Given the description of an element on the screen output the (x, y) to click on. 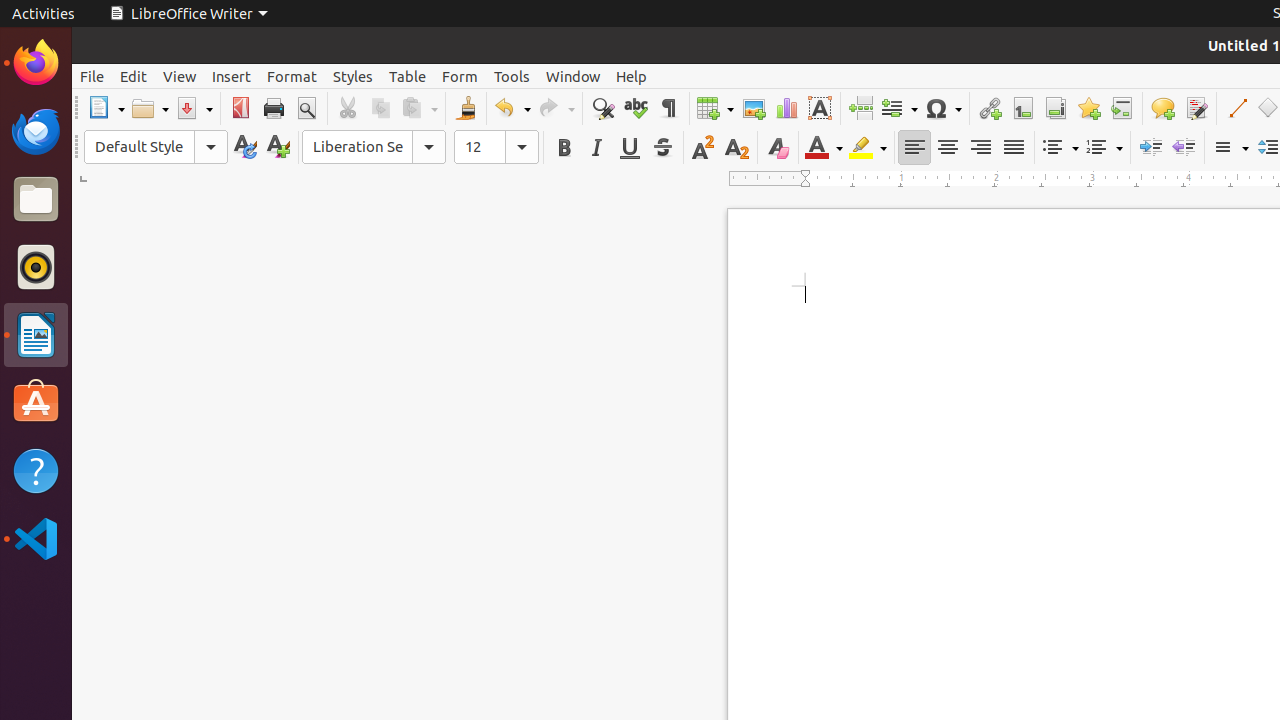
Print Element type: push-button (273, 108)
Image Element type: push-button (753, 108)
Justified Element type: toggle-button (1013, 147)
Font Size Element type: combo-box (496, 147)
Italic Element type: toggle-button (596, 147)
